Given the description of an element on the screen output the (x, y) to click on. 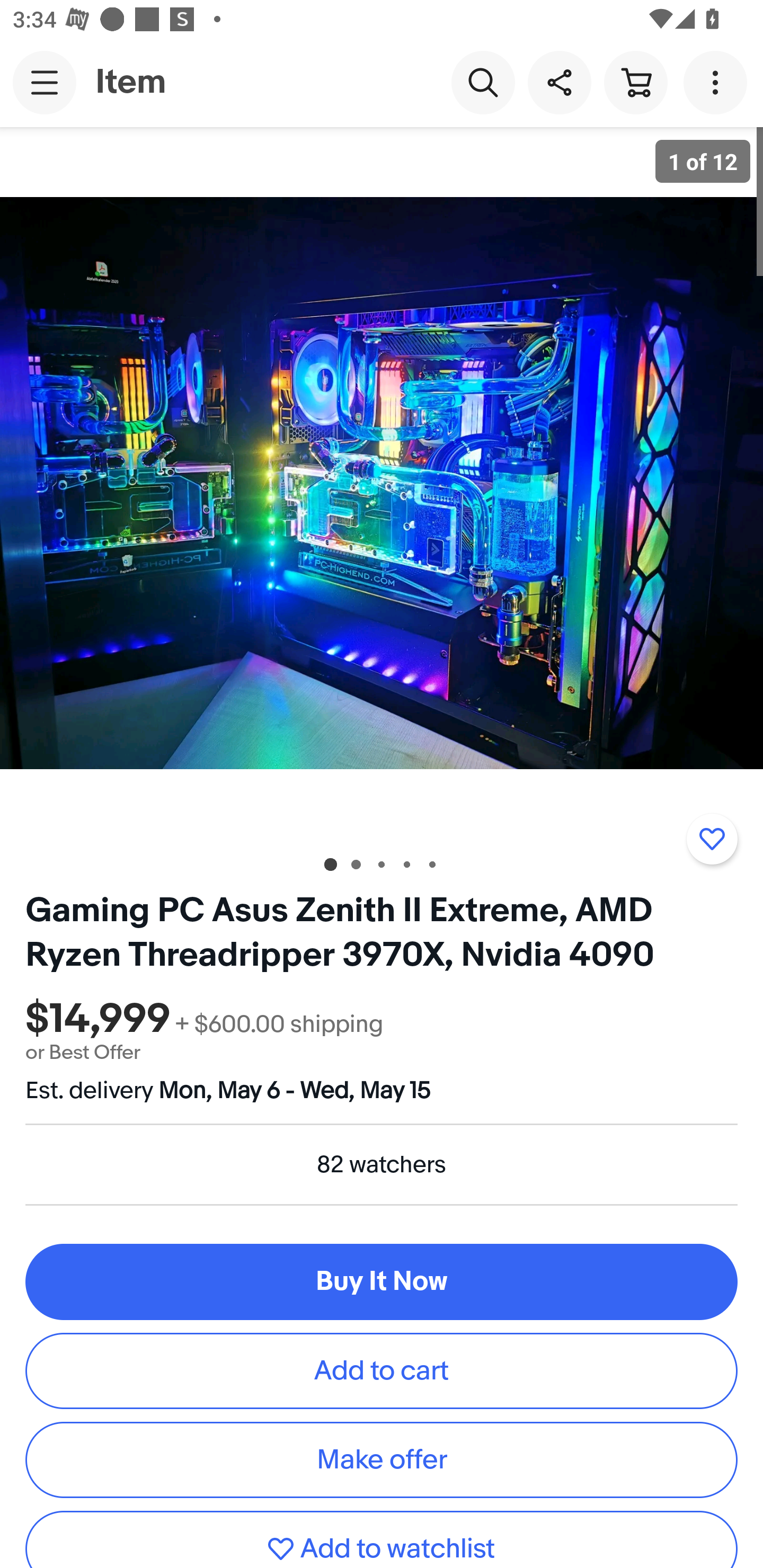
Main navigation, open (44, 82)
Search (482, 81)
Share this item (559, 81)
Cart button shopping cart (635, 81)
More options (718, 81)
Item image 1 of 12 (381, 482)
Add to watchlist (711, 838)
Buy It Now (381, 1281)
Add to cart (381, 1370)
Make offer (381, 1459)
Add to watchlist (381, 1539)
